Given the description of an element on the screen output the (x, y) to click on. 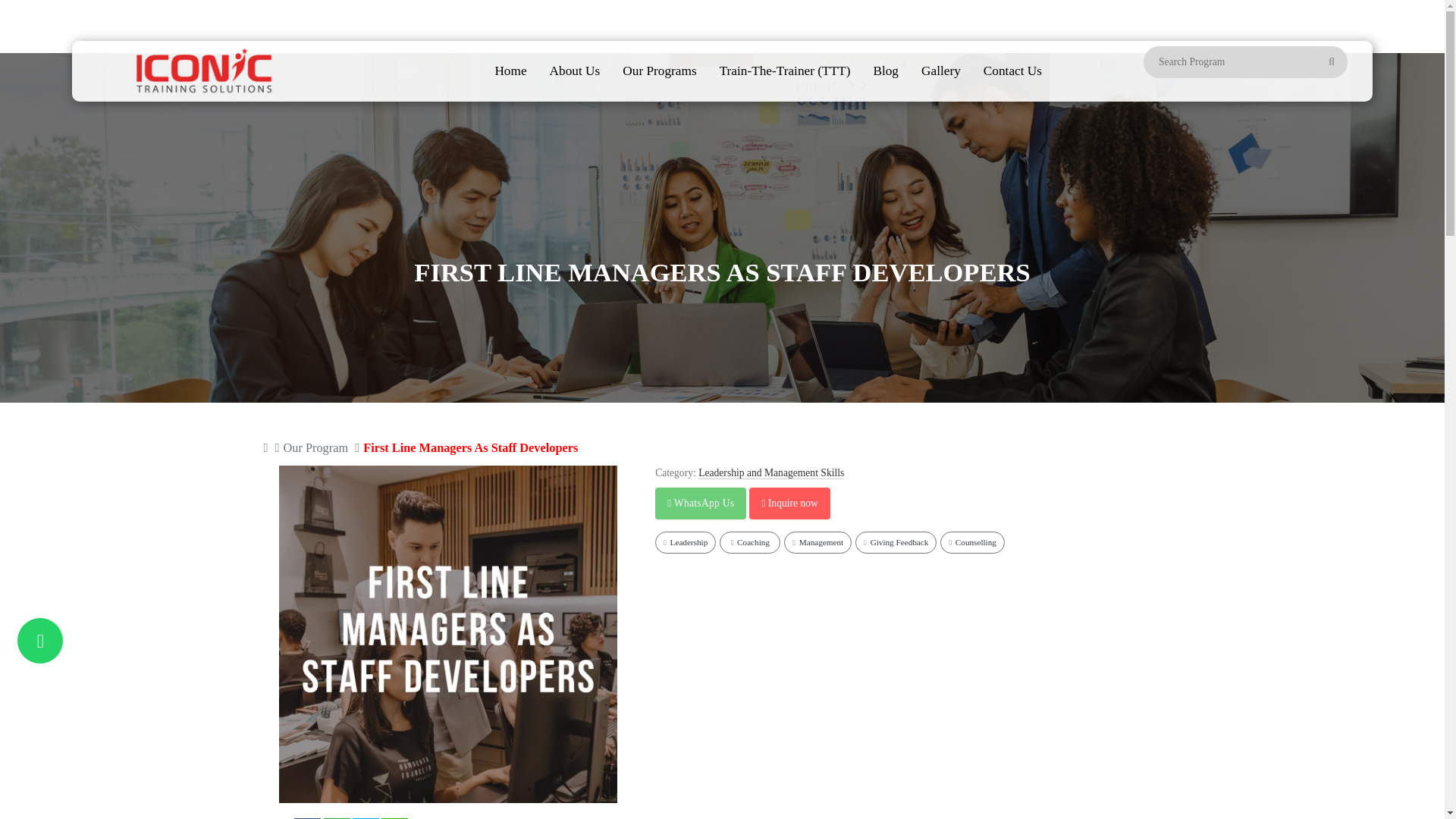
Our Programs (659, 70)
Blog (885, 70)
Iconic Training Solutions Sdn Bhd (201, 70)
Blog (885, 70)
Leadership (685, 542)
Inquire now (789, 503)
WhatsApp Us (699, 503)
Inquire now (789, 503)
Leadership and Management Skills (771, 472)
Management (817, 542)
About Us (574, 70)
First Line Managers As Staff Developers (470, 447)
Giving Feedback (896, 542)
Home (510, 70)
Gallery (941, 70)
